Given the description of an element on the screen output the (x, y) to click on. 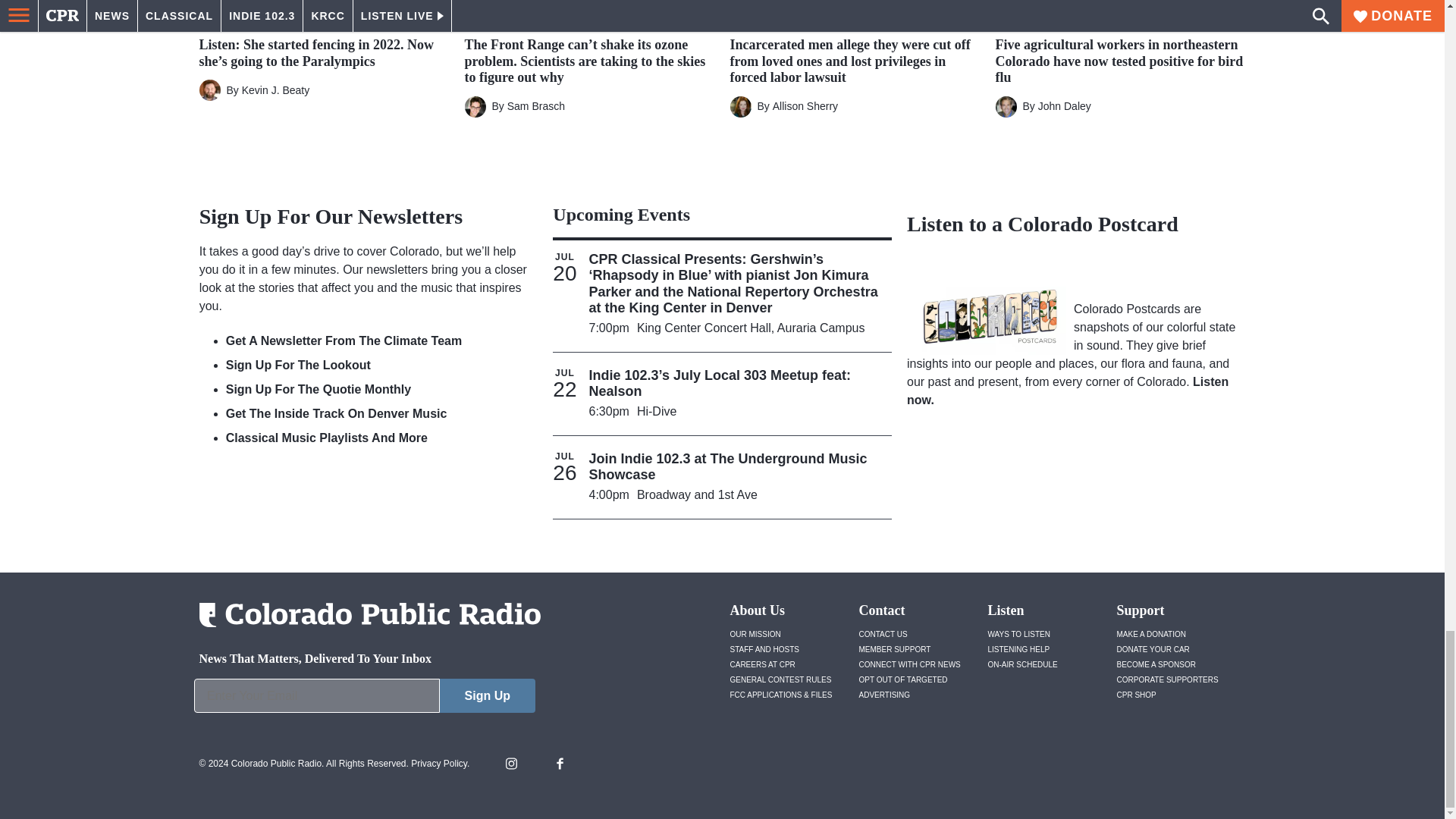
footer (364, 699)
